Given the description of an element on the screen output the (x, y) to click on. 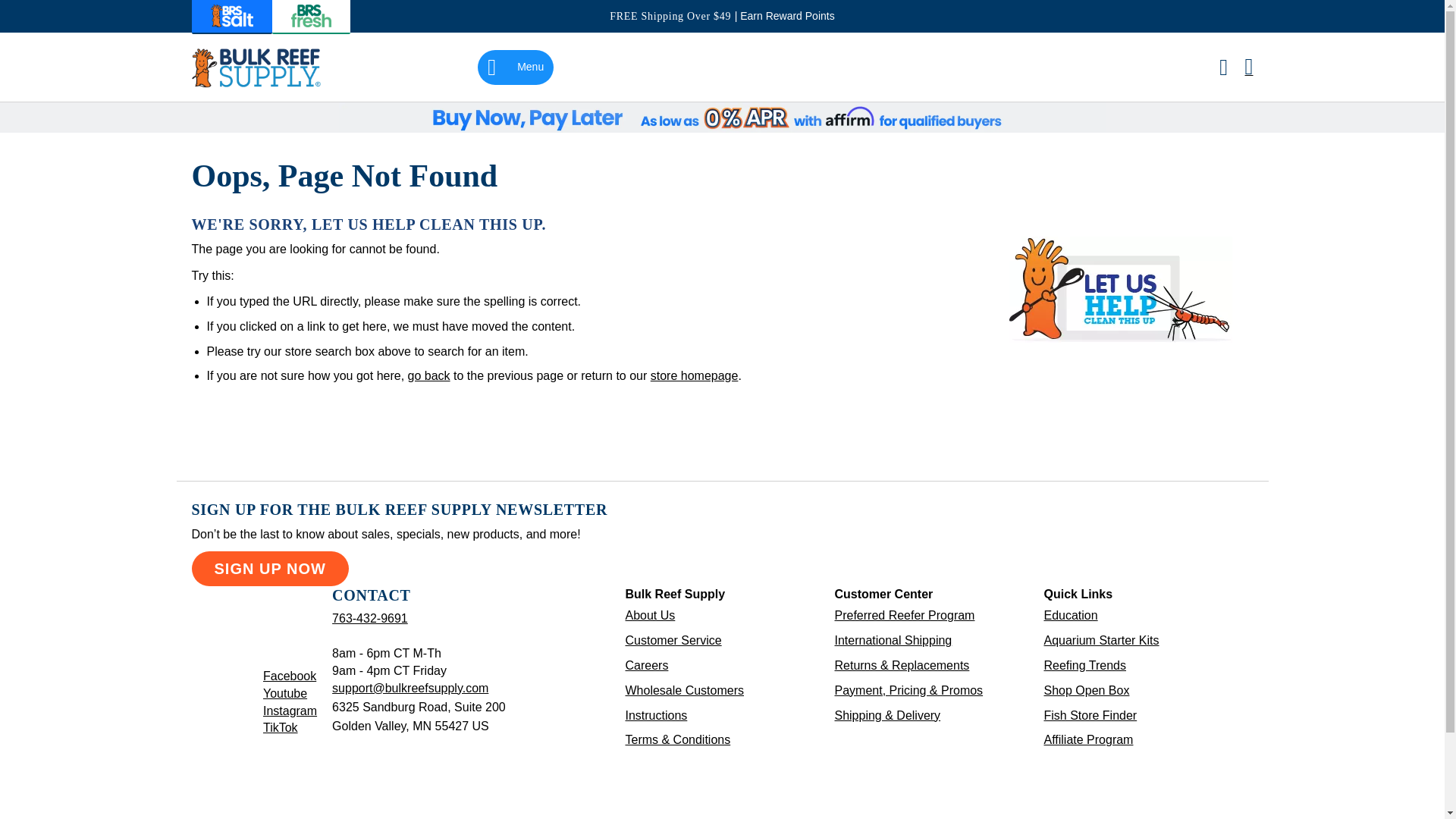
Bulk Reef Supply (290, 710)
763-432-9691 (255, 67)
SIGN UP NOW (369, 617)
store homepage (289, 675)
go back (268, 568)
Sign Up to Be a Preferred Reefer (694, 375)
